Given the description of an element on the screen output the (x, y) to click on. 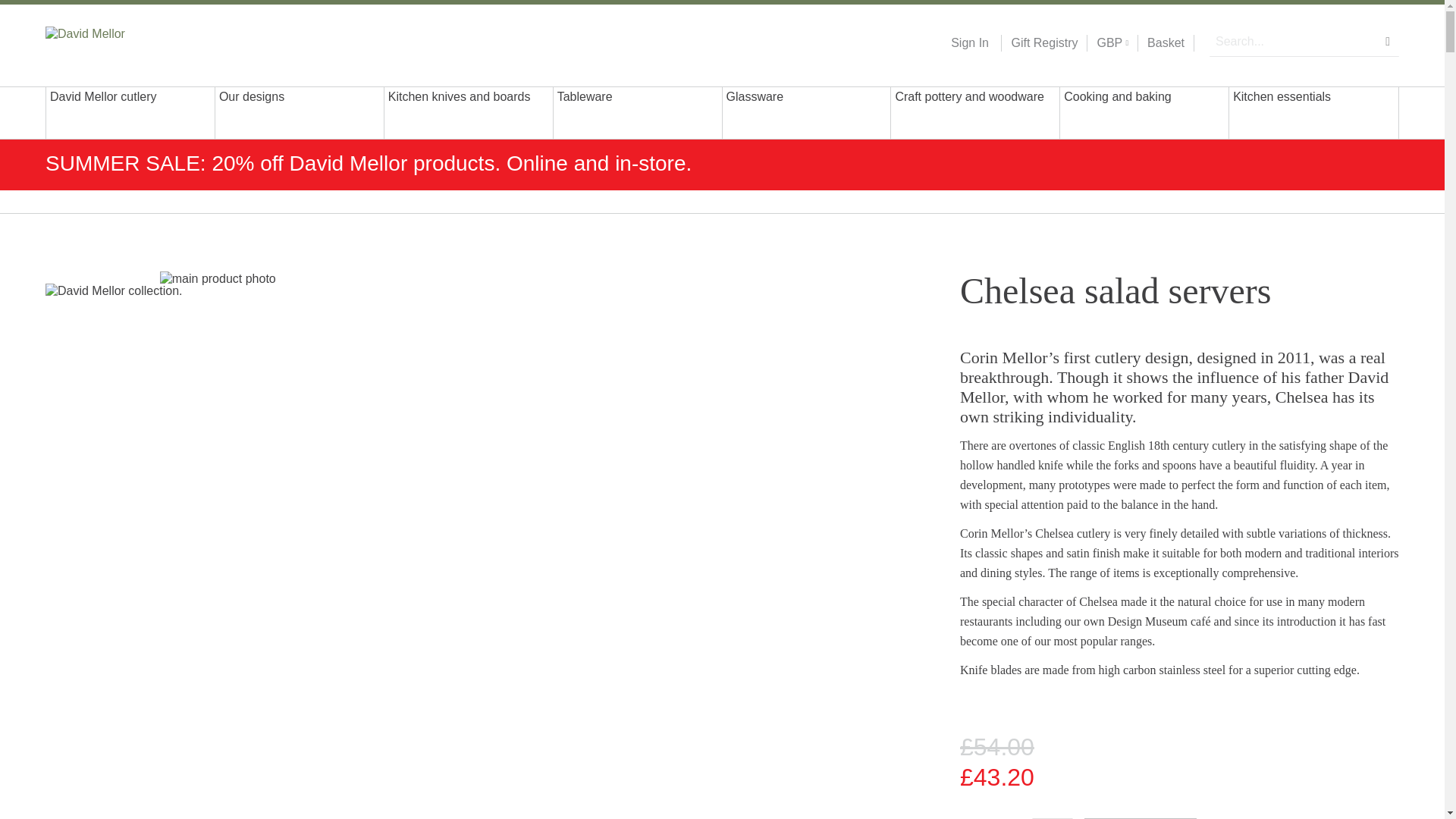
David Mellor (143, 42)
Gift Registry (1039, 43)
Search (1388, 41)
1 (1052, 818)
Basket (1166, 43)
Search (1388, 41)
David Mellor cutlery (130, 112)
Qty (1052, 818)
Sign In (969, 43)
